Given the description of an element on the screen output the (x, y) to click on. 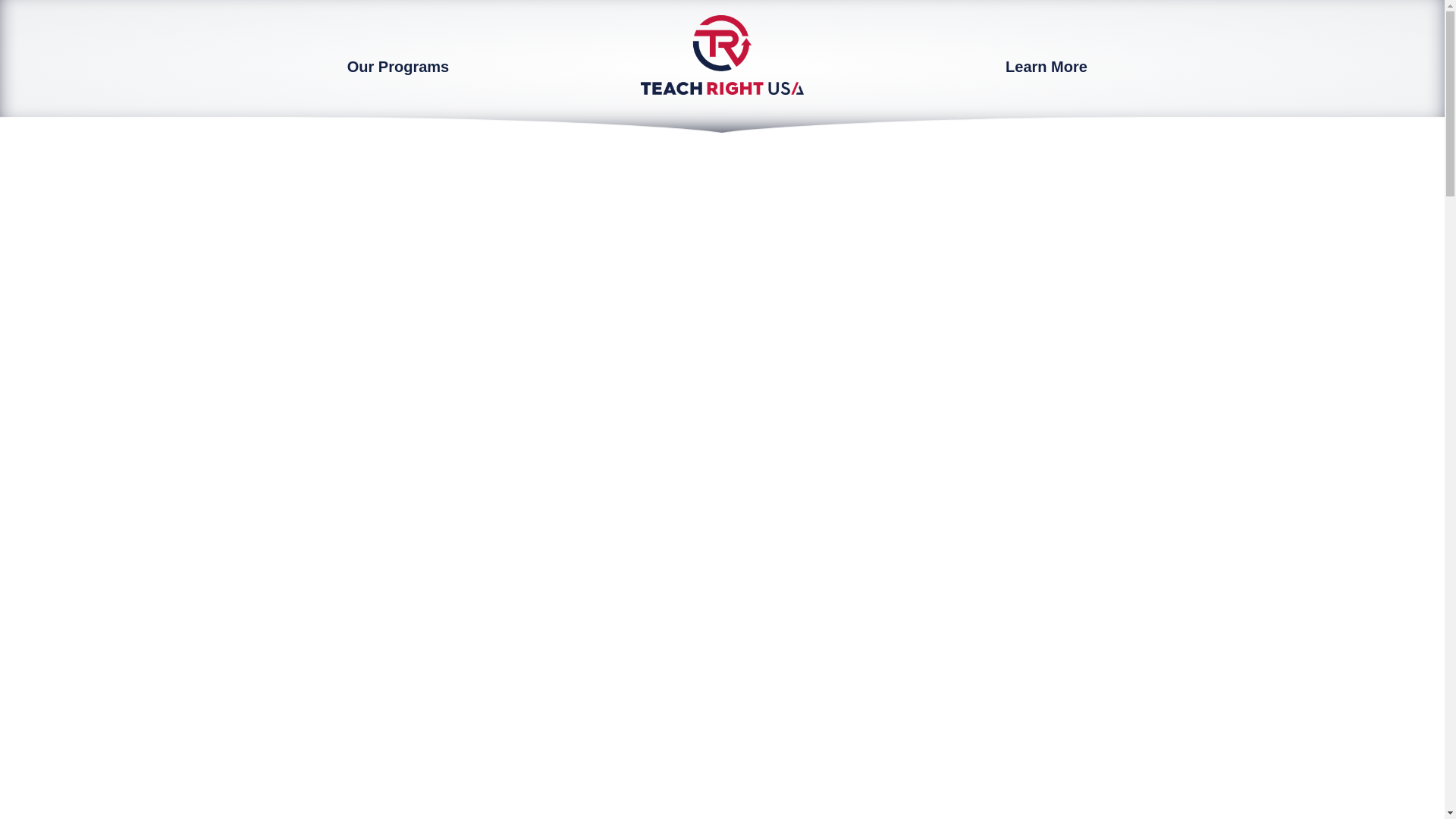
Our Programs (397, 66)
Learn More (1046, 66)
